Given the description of an element on the screen output the (x, y) to click on. 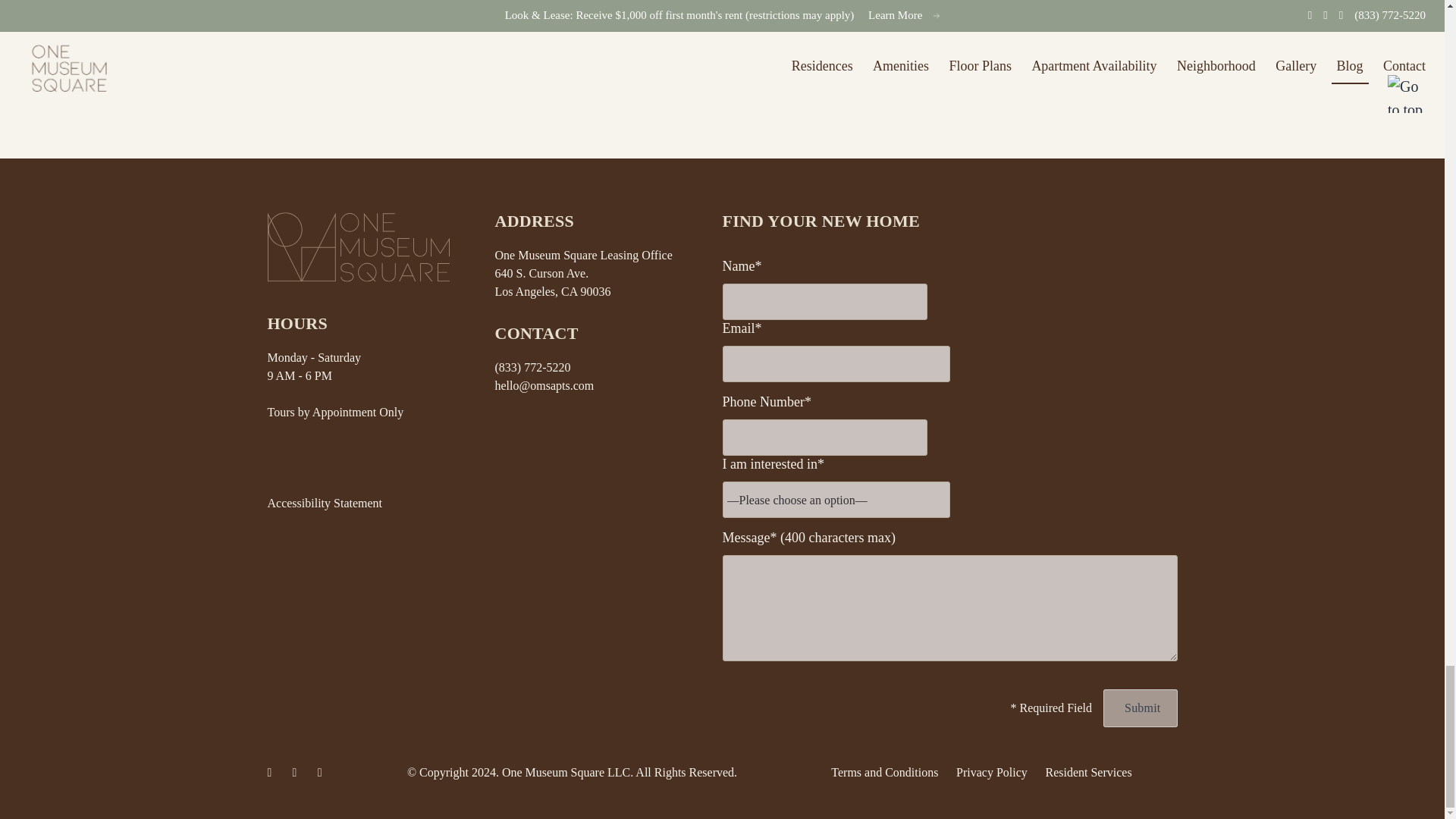
Accessibility Statement (323, 502)
Terms and Conditions (884, 772)
Resident Services (1088, 772)
Submit (1139, 708)
Submit (1139, 708)
Privacy Policy (991, 772)
